Given the description of an element on the screen output the (x, y) to click on. 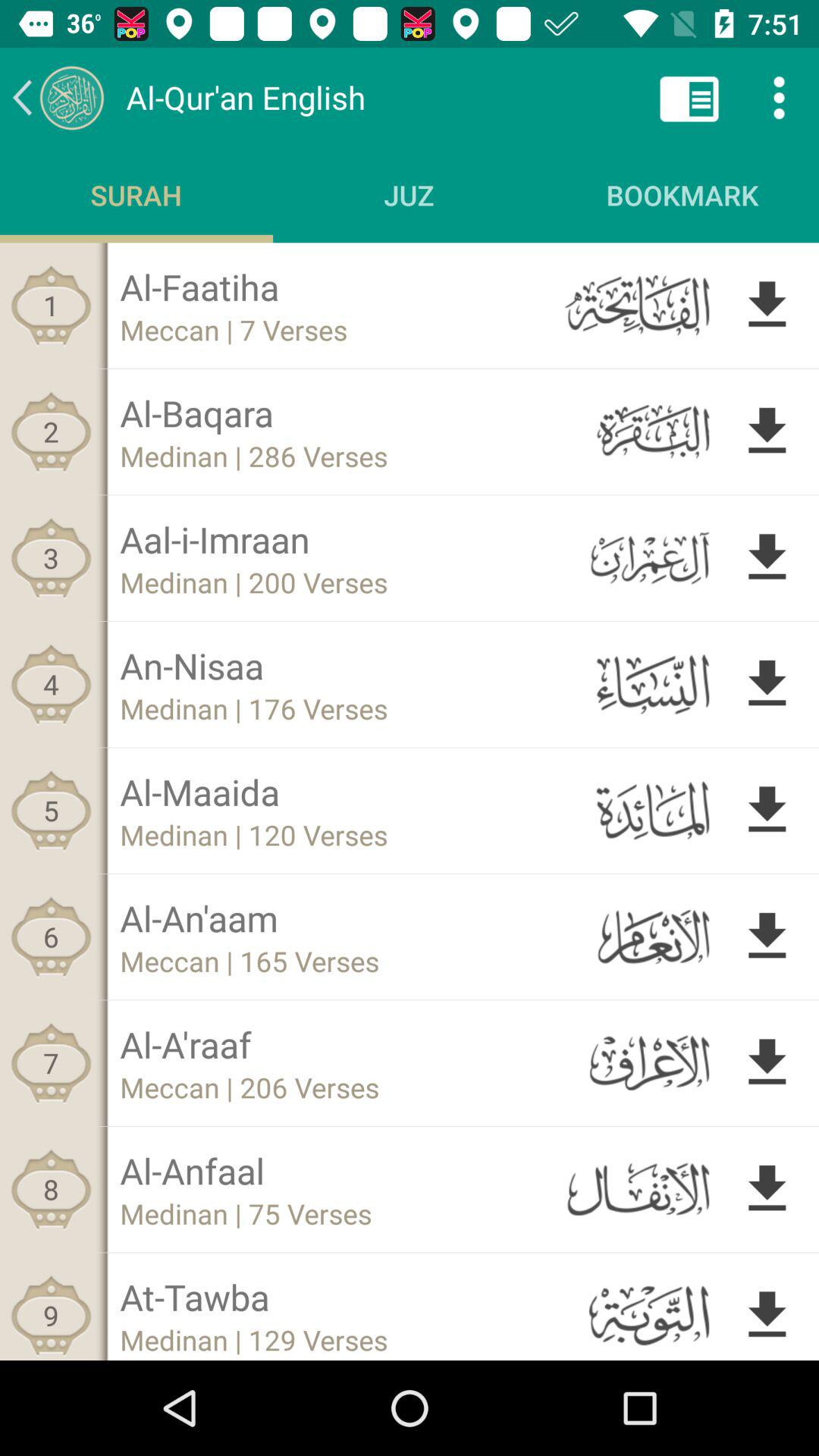
pack word (58, 97)
